Given the description of an element on the screen output the (x, y) to click on. 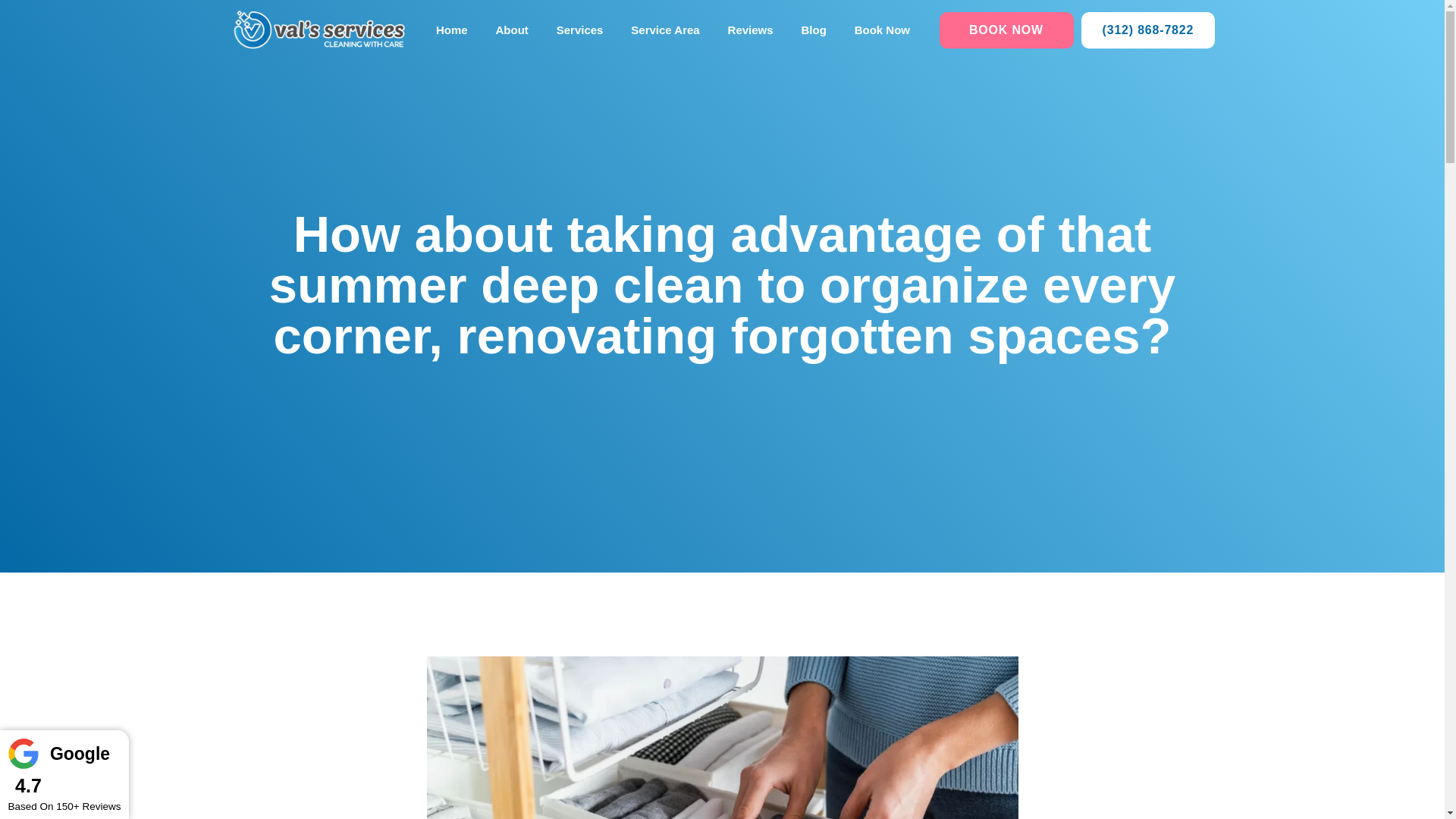
BOOK NOW (1006, 30)
Service Area (665, 30)
Home (451, 30)
Reviews (750, 30)
About (511, 30)
Book Now (881, 30)
Blog (813, 30)
Services (579, 30)
